Given the description of an element on the screen output the (x, y) to click on. 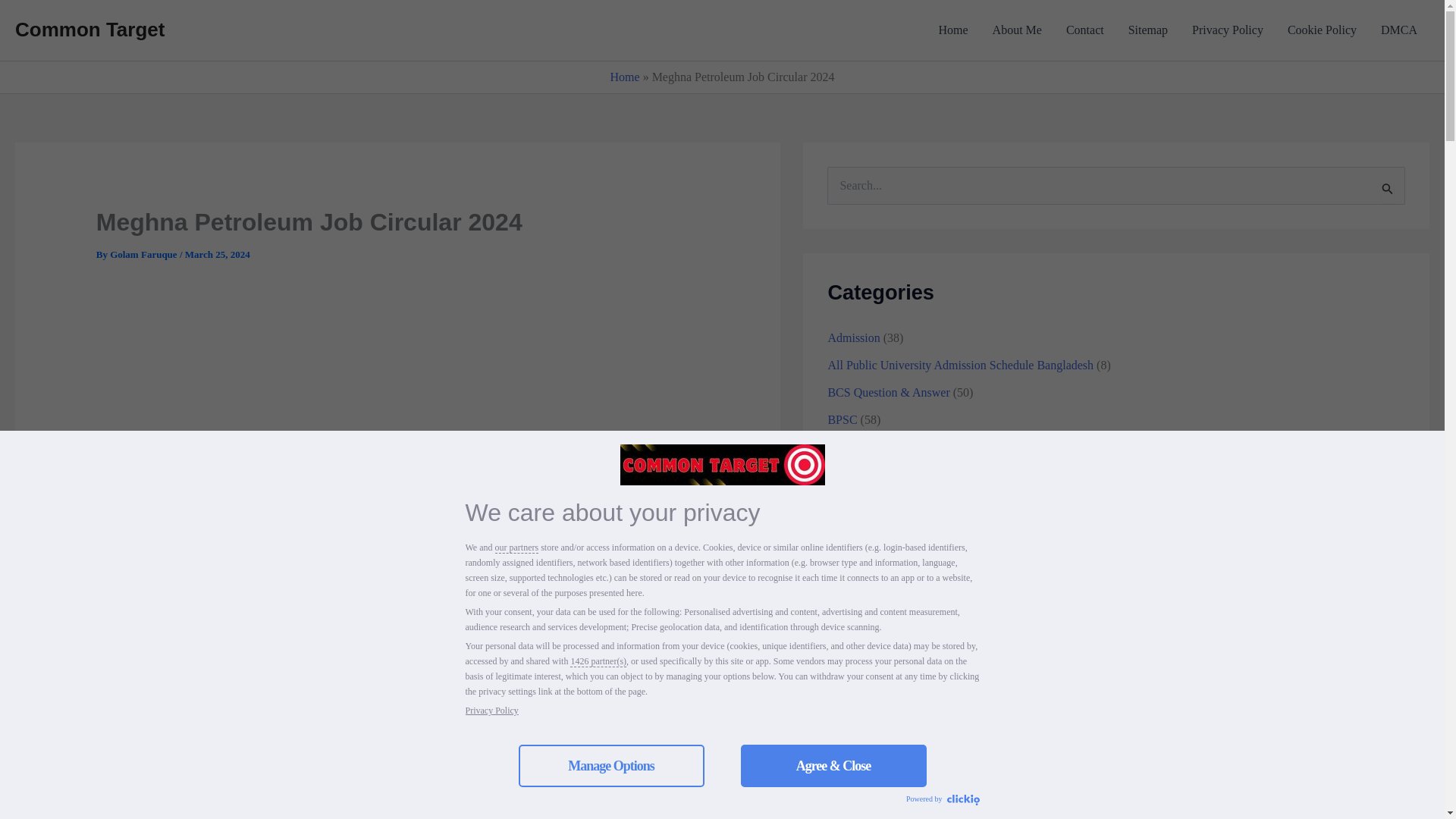
Meghna Petroleum Job News 2024 (188, 800)
Home (625, 76)
Meghna Petroleum Job Notice 2024 (191, 782)
Meghna Petroleum Job Details 2024 (191, 762)
Sitemap (1147, 30)
View all posts by Golam Faruque (144, 254)
Meghna Petroleum Job Circular 2024 (193, 744)
Common Target (89, 29)
Clickio (962, 800)
Golam Faruque (144, 254)
